Given the description of an element on the screen output the (x, y) to click on. 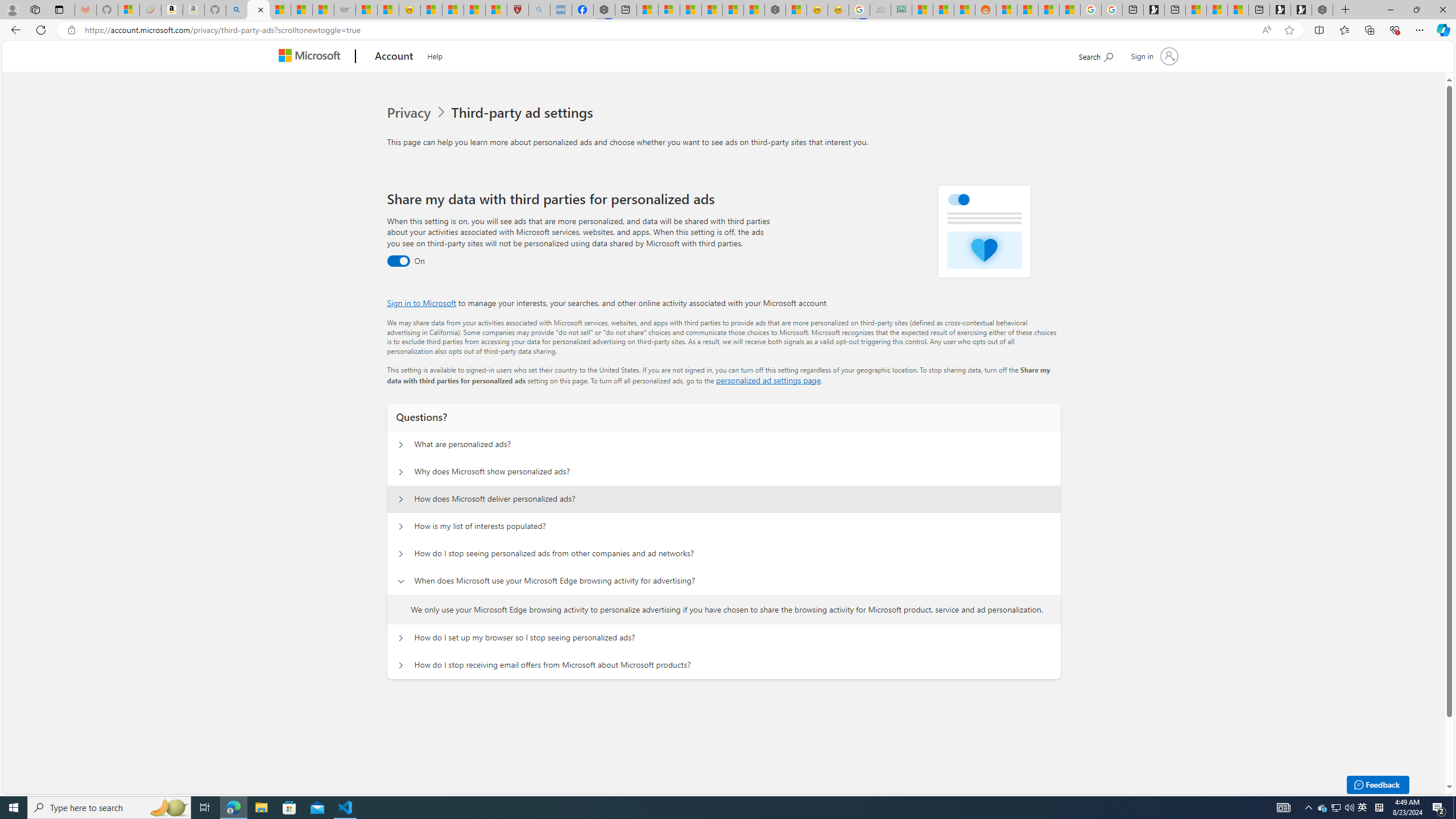
Account (394, 56)
